Given the description of an element on the screen output the (x, y) to click on. 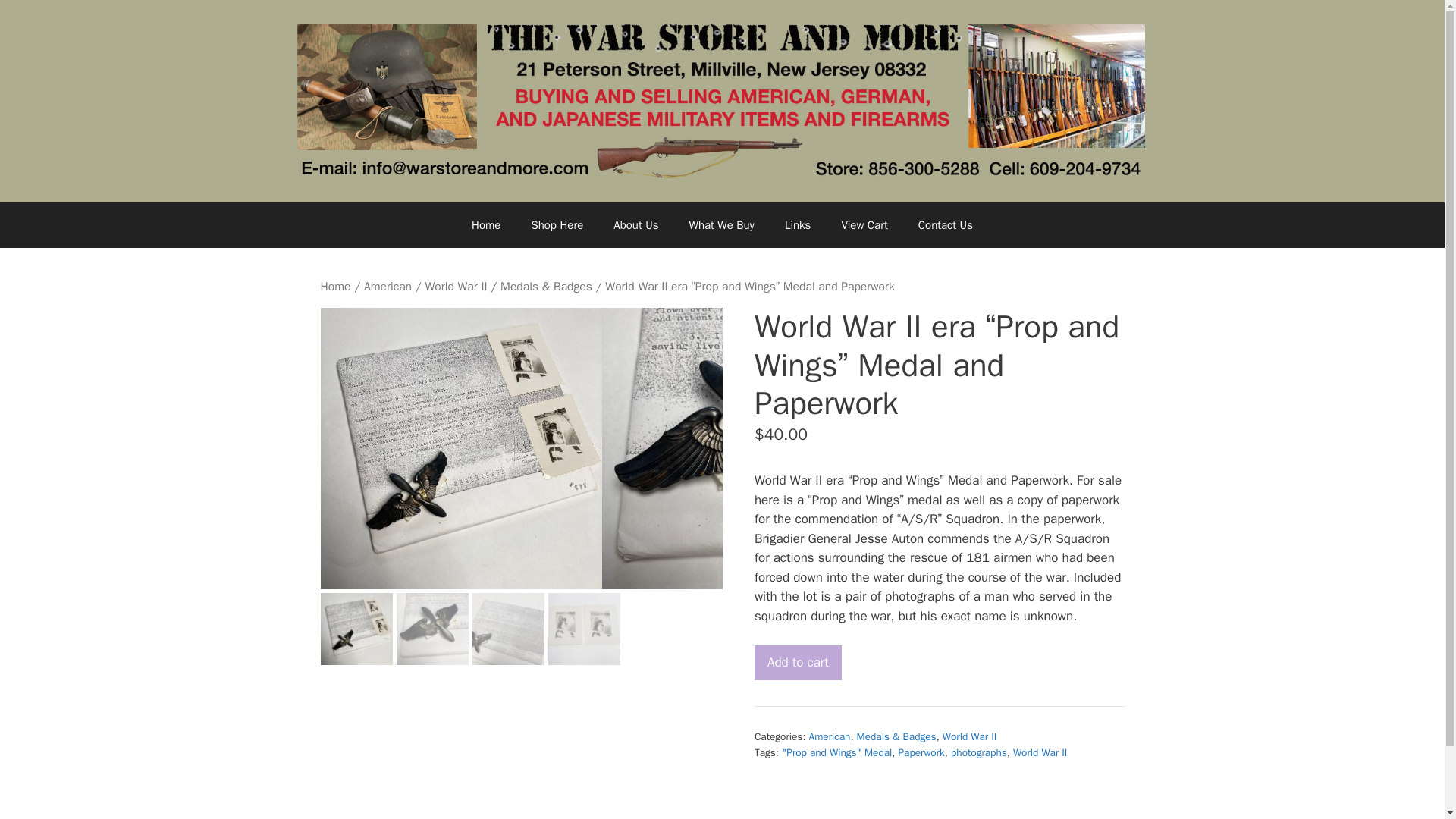
American (388, 286)
Links (797, 225)
World War II (455, 286)
About Us (635, 225)
View Cart (863, 225)
World War II (968, 736)
World War II (1040, 752)
Add to cart (797, 662)
photographs (978, 752)
American (829, 736)
Home (335, 286)
"Prop and Wings" Medal (836, 752)
What We Buy (722, 225)
Shop Here (556, 225)
Contact Us (945, 225)
